Given the description of an element on the screen output the (x, y) to click on. 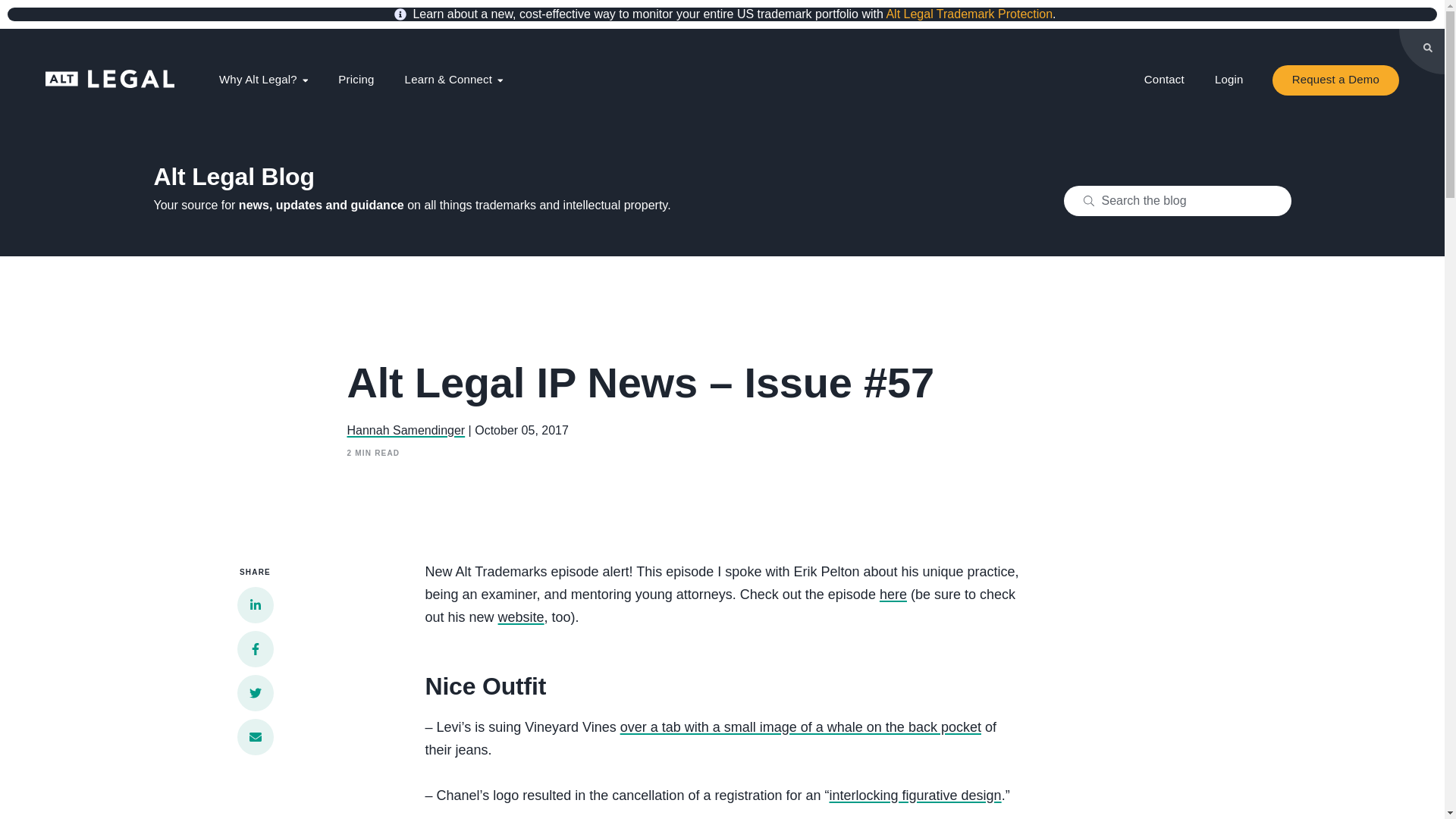
Why Alt Legal? (263, 80)
Login (1229, 80)
Alt Legal Trademark Protection (968, 13)
Pricing (355, 80)
Request a Demo (1335, 80)
Contact (1164, 80)
